Given the description of an element on the screen output the (x, y) to click on. 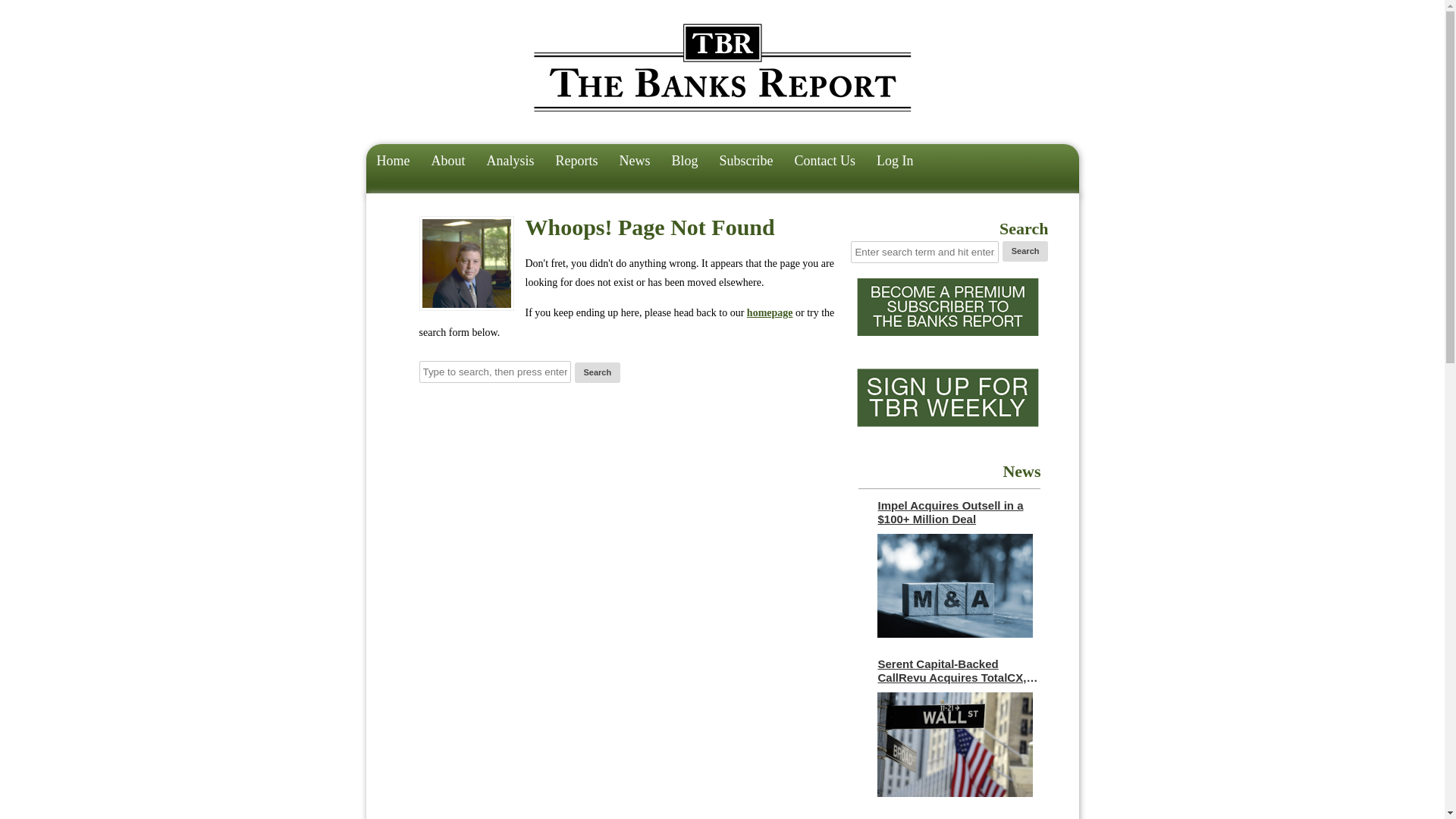
Log In (895, 162)
About (448, 162)
homepage (769, 312)
Search (1025, 250)
Reports (576, 162)
Analysis (510, 162)
Search (598, 372)
Contact Us (825, 162)
Search (1025, 250)
Type to search, then press enter (494, 372)
News (634, 162)
Blog (685, 162)
Subscribe (746, 162)
Home (392, 162)
